Given the description of an element on the screen output the (x, y) to click on. 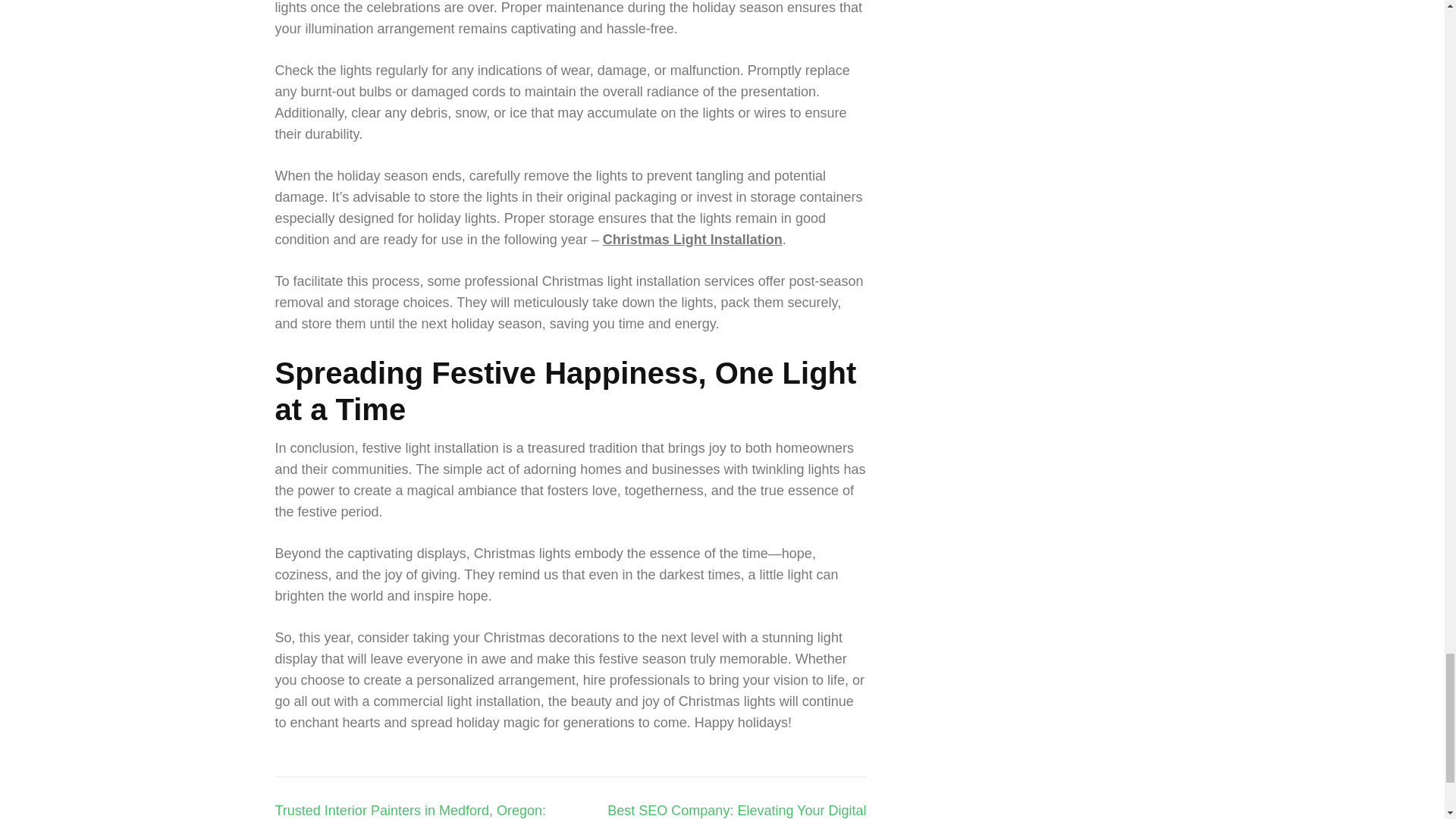
Christmas Light Installation (692, 239)
Best SEO Company: Elevating Your Digital Landscape (736, 811)
